Given the description of an element on the screen output the (x, y) to click on. 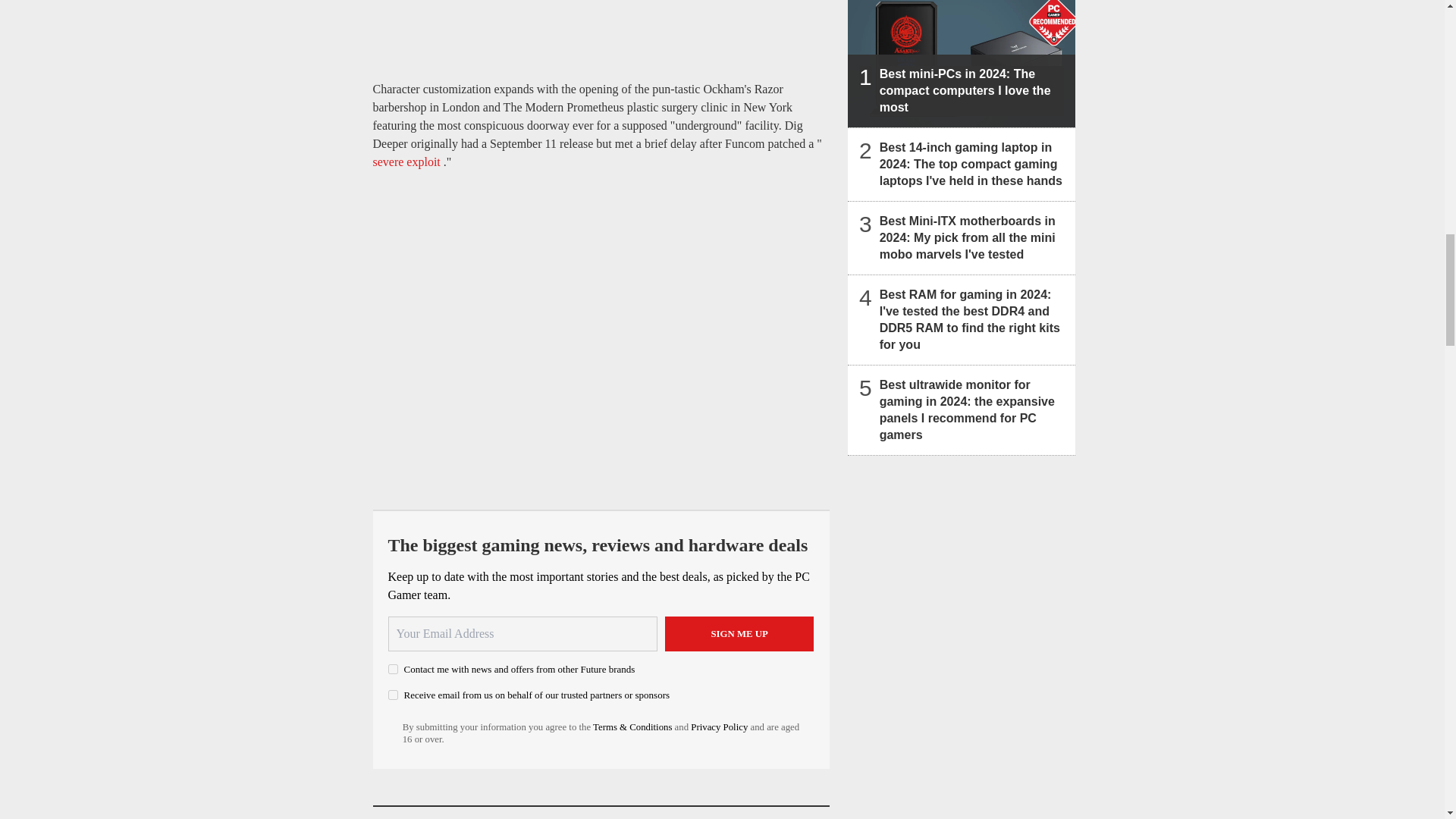
on (392, 695)
on (392, 669)
Sign me up (739, 633)
The Secret World forums: Server maintenance for September 12 (408, 161)
